Given the description of an element on the screen output the (x, y) to click on. 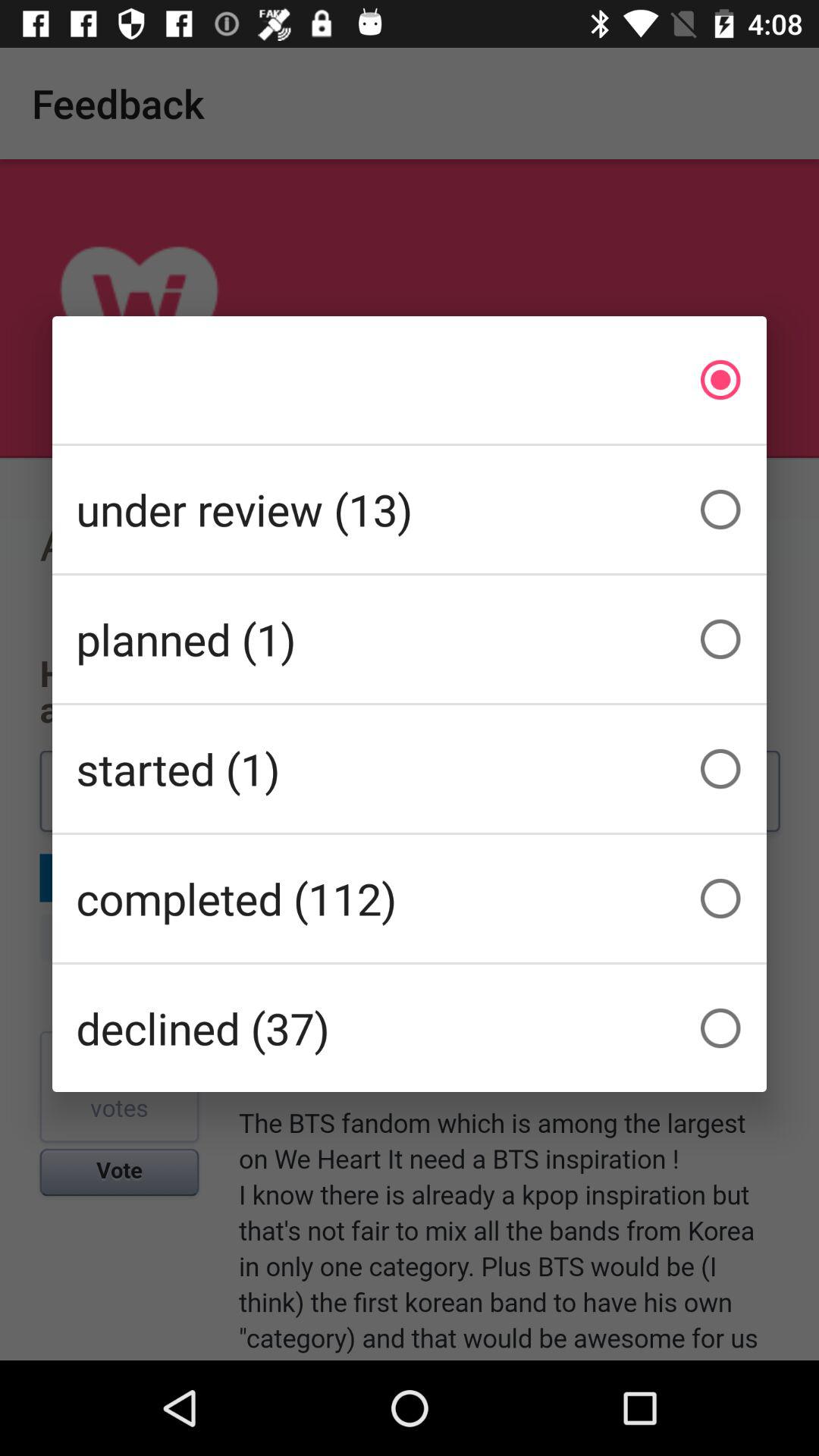
tap item below the planned (1) item (409, 768)
